Given the description of an element on the screen output the (x, y) to click on. 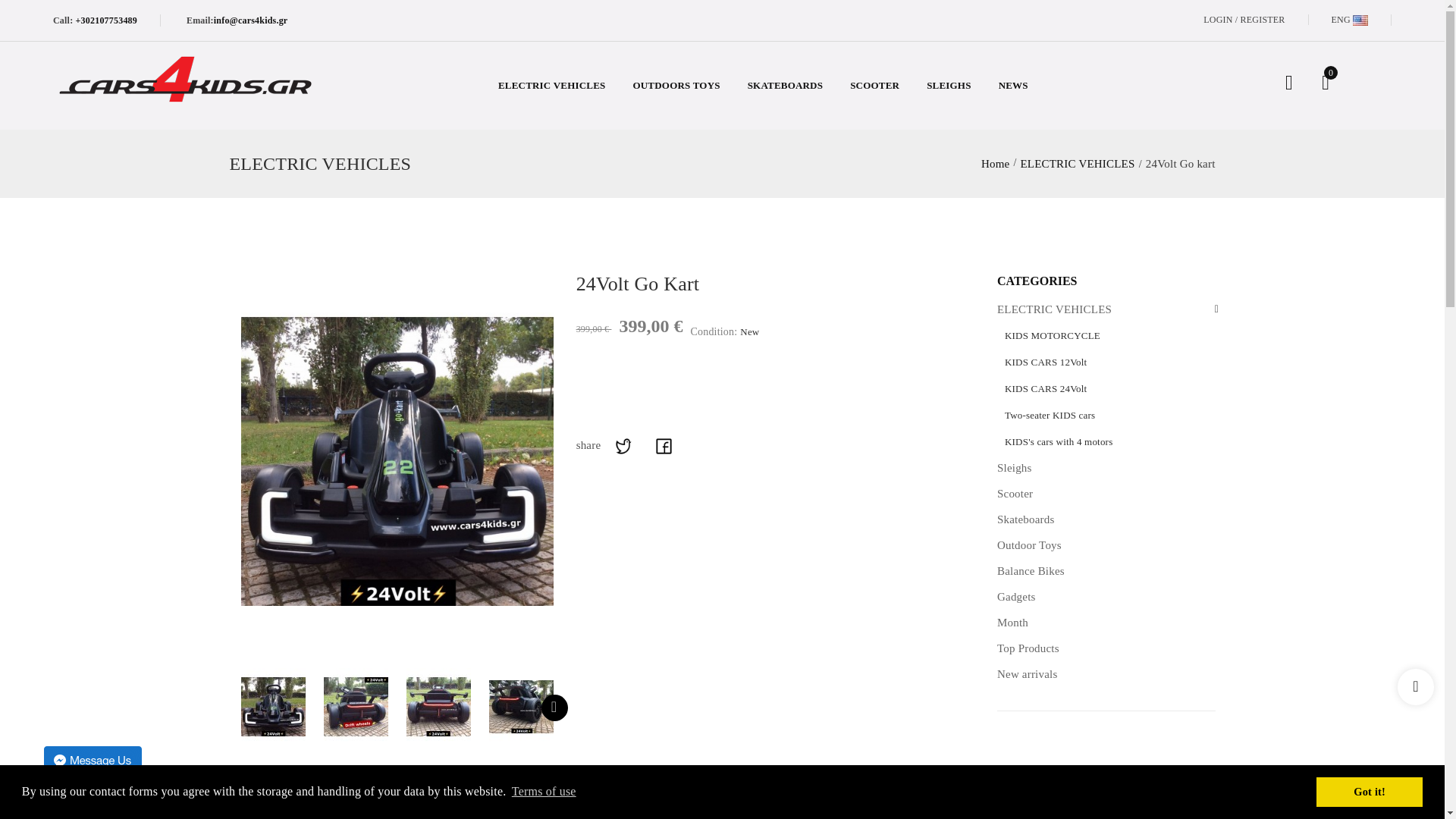
email (251, 20)
car4kids (197, 78)
OUTDOORS TOYS (675, 85)
Log in to your customer account (1259, 19)
Got it! (1369, 791)
ENG (1350, 19)
Terms of use (543, 791)
call (104, 20)
LOGIN (1219, 19)
SKATEBOARDS (785, 85)
Login to your customer account (1219, 19)
ELECTRIC VEHICLES (551, 85)
ELECTRIC VEHICLES (1077, 163)
Return to Home (995, 163)
